Given the description of an element on the screen output the (x, y) to click on. 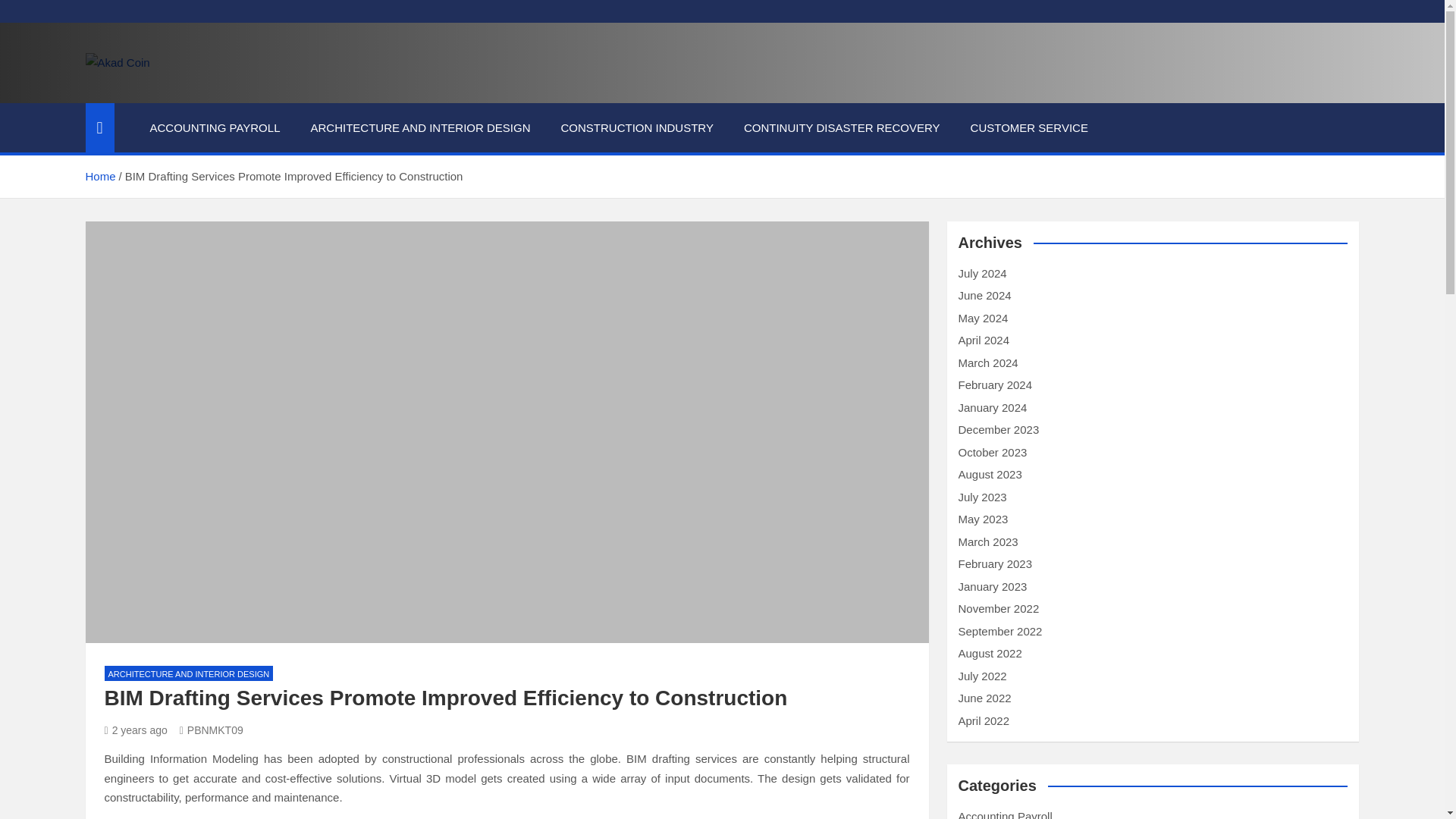
August 2022 (990, 653)
April 2022 (984, 720)
July 2024 (982, 273)
December 2023 (998, 429)
September 2022 (1000, 631)
July 2022 (982, 675)
January 2024 (992, 406)
PBNMKT09 (211, 729)
March 2023 (987, 541)
March 2024 (987, 362)
October 2023 (992, 451)
April 2024 (984, 339)
ARCHITECTURE AND INTERIOR DESIGN (419, 128)
January 2023 (992, 585)
